Given the description of an element on the screen output the (x, y) to click on. 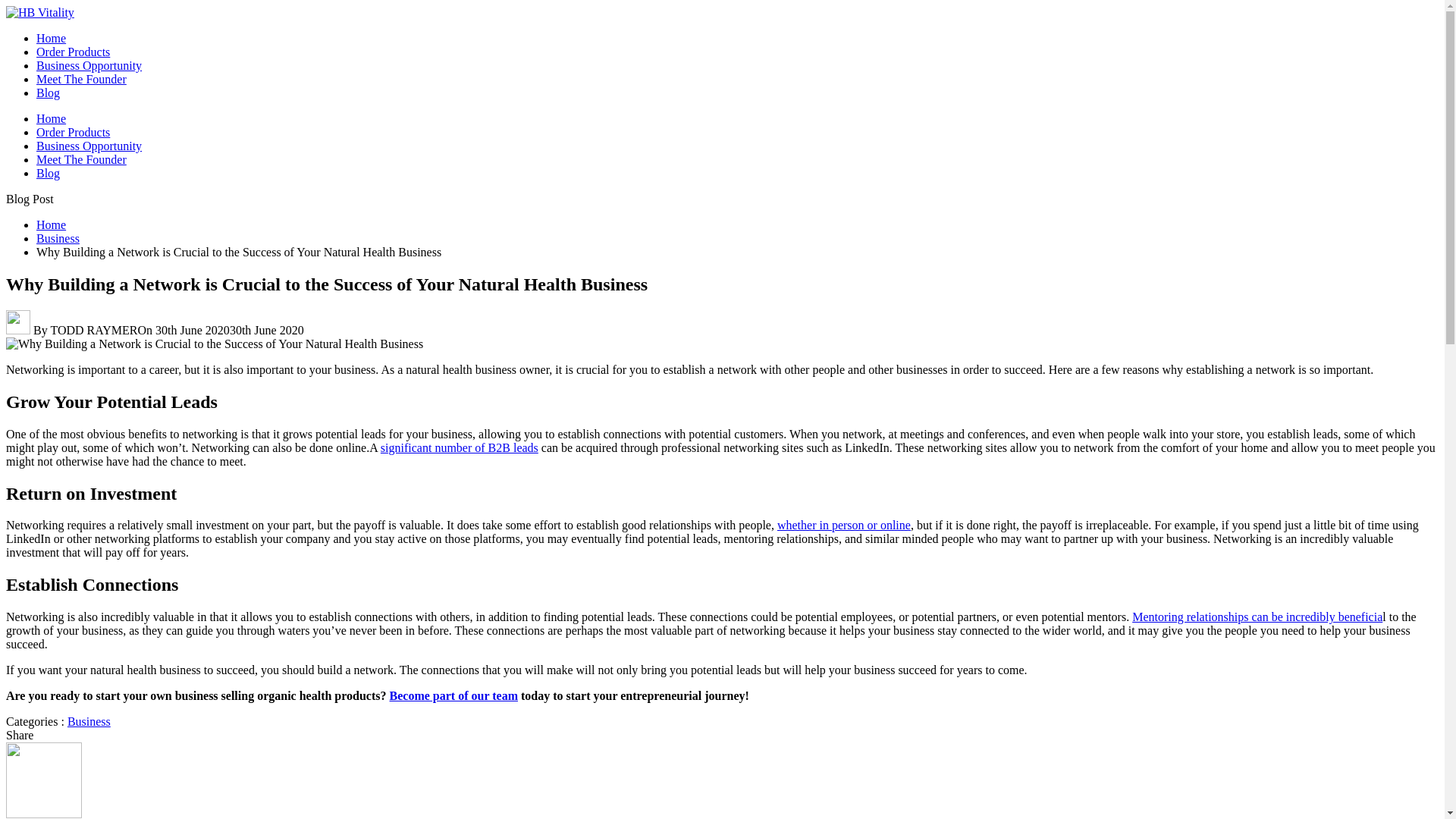
Home (50, 224)
Become part of our team (454, 695)
HB Naturals Products (73, 51)
Order Products (73, 132)
Meet The Founder (81, 78)
Home (50, 38)
Home (50, 118)
whether in person or online (844, 524)
Join For Free (88, 145)
Blog (47, 92)
Business (88, 721)
Blog (47, 173)
Join For Free (88, 65)
